Given the description of an element on the screen output the (x, y) to click on. 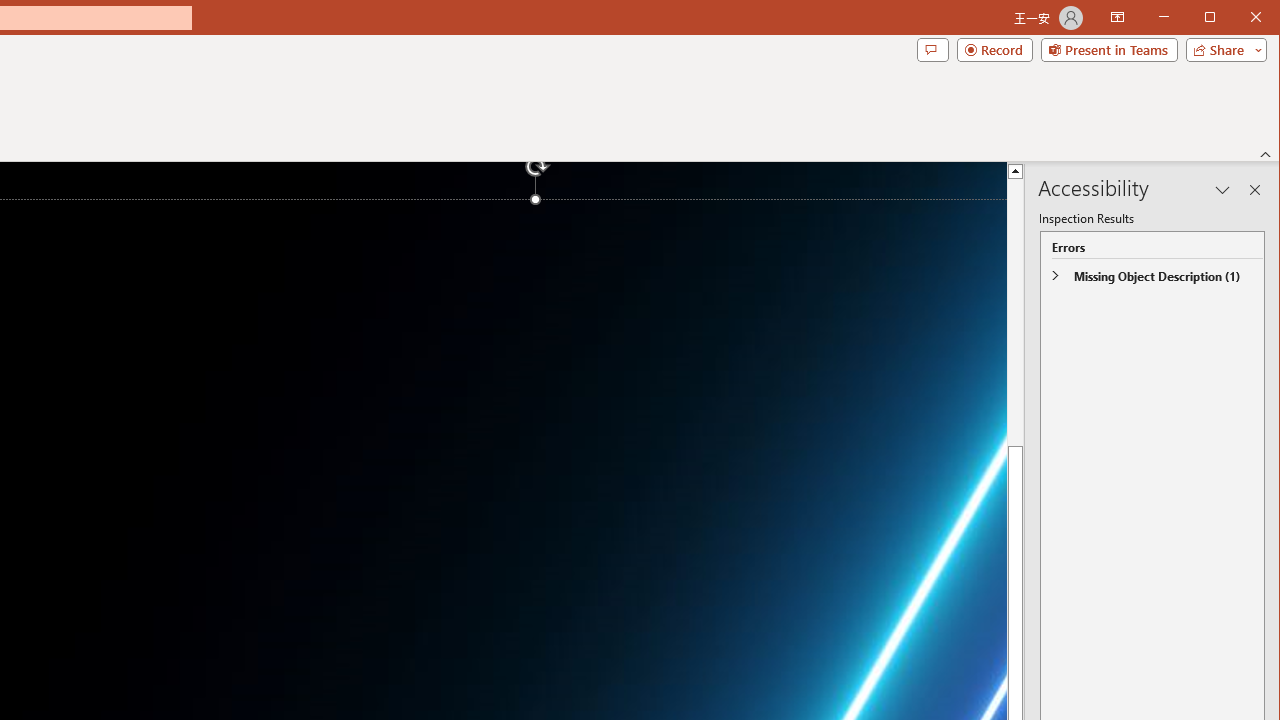
Present in Teams (1108, 49)
Collapse the Ribbon (1266, 154)
Ribbon Display Options (1117, 17)
Close pane (1254, 189)
Task Pane Options (1222, 189)
Line up (1015, 170)
Page up (1015, 311)
Maximize (1238, 18)
